Given the description of an element on the screen output the (x, y) to click on. 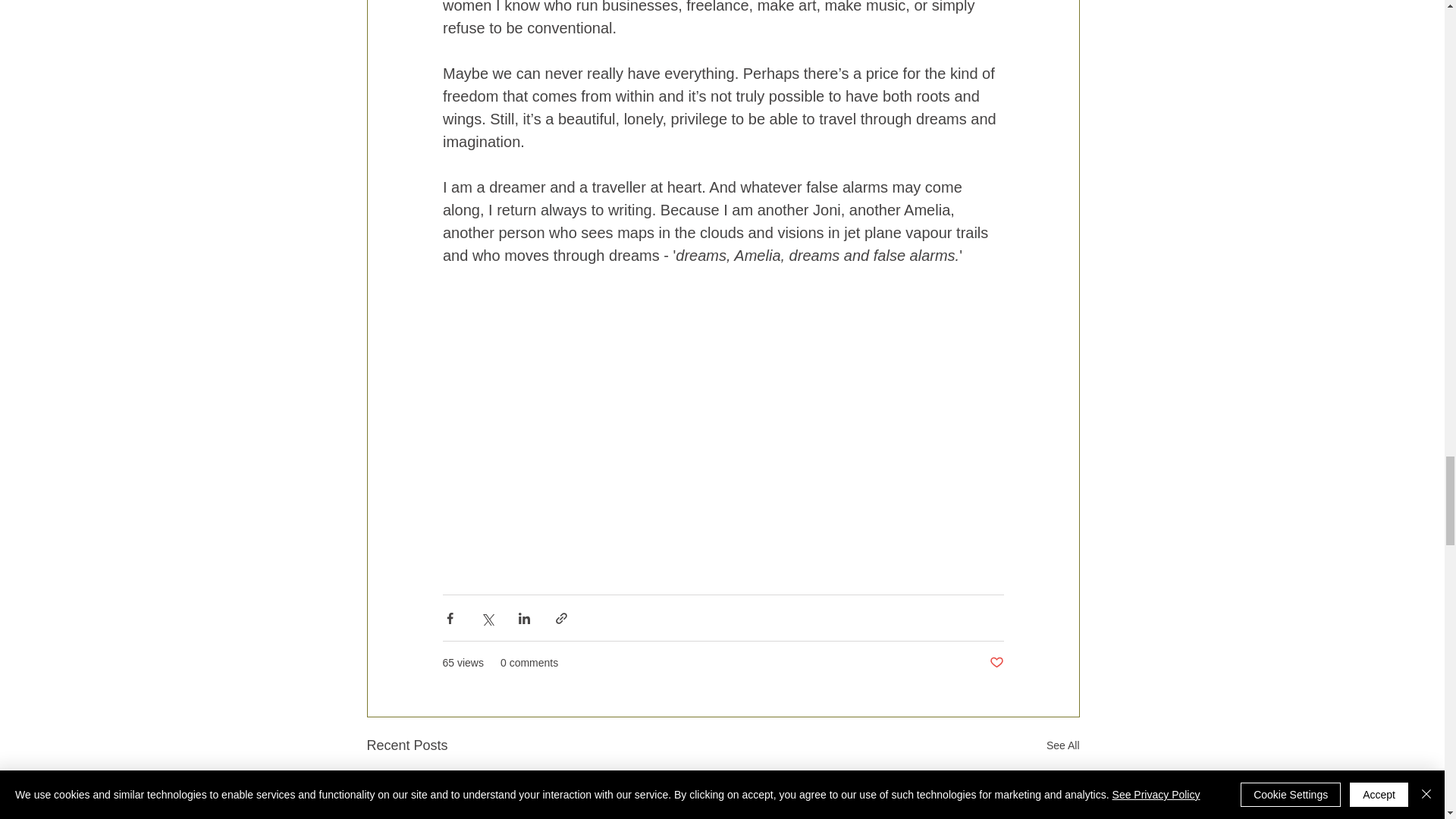
See All (1063, 745)
Post not marked as liked (995, 662)
